Given the description of an element on the screen output the (x, y) to click on. 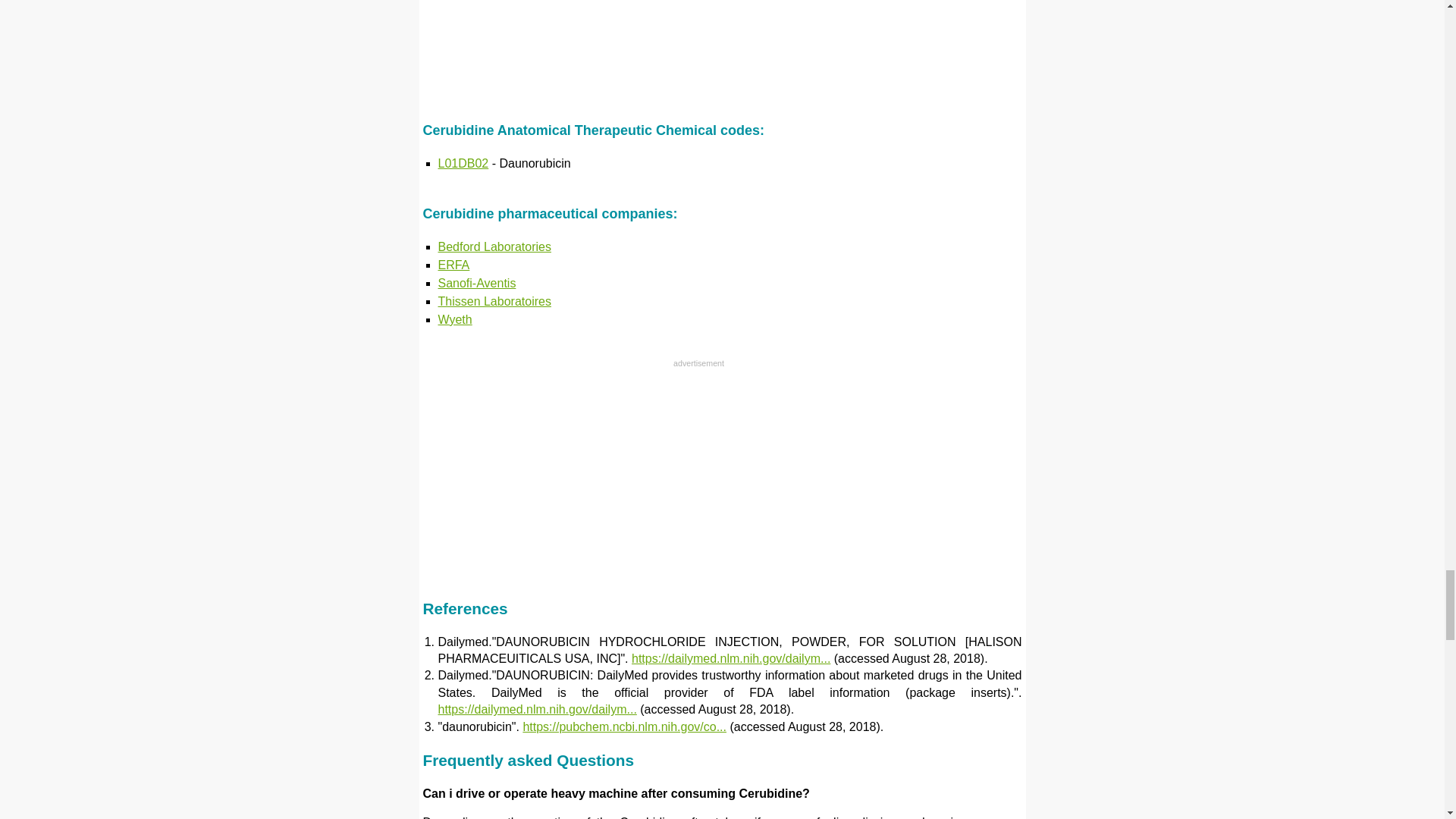
Wyeth (454, 318)
Sanofi-Aventis (477, 282)
Bedford Laboratories (494, 246)
Thissen Laboratoires (494, 300)
ERFA (454, 264)
L01DB02 (463, 163)
